Given the description of an element on the screen output the (x, y) to click on. 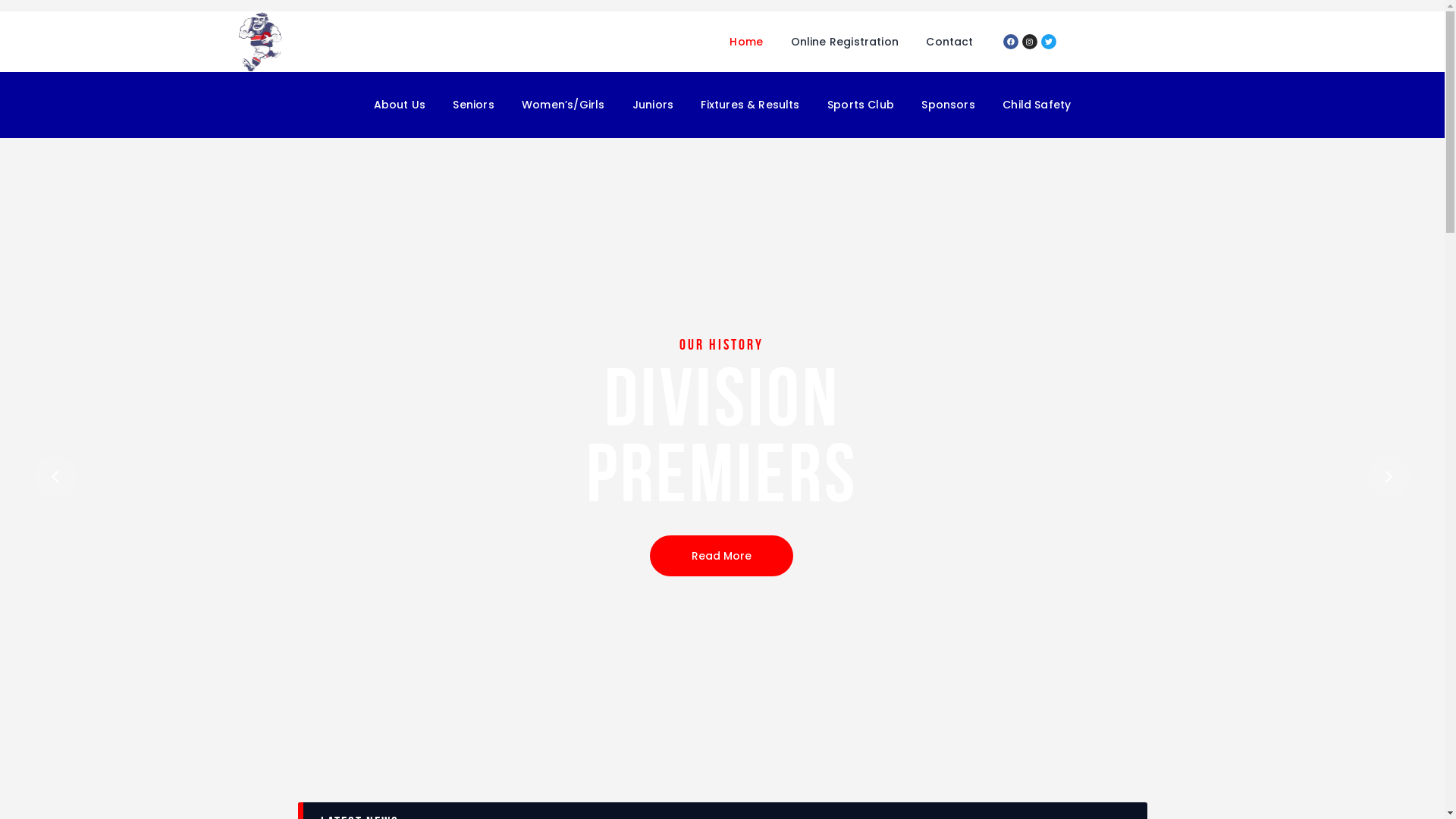
Juniors Element type: text (652, 104)
Home Element type: text (745, 41)
Fixtures & Results Element type: text (750, 104)
Online Registration Element type: text (844, 41)
Sponsors Element type: text (947, 104)
Seniors Element type: text (473, 104)
Read More Element type: text (721, 557)
Sports Club Element type: text (860, 104)
Contact Element type: text (949, 41)
About Us Element type: text (399, 104)
Child Safety Element type: text (1036, 104)
